Given the description of an element on the screen output the (x, y) to click on. 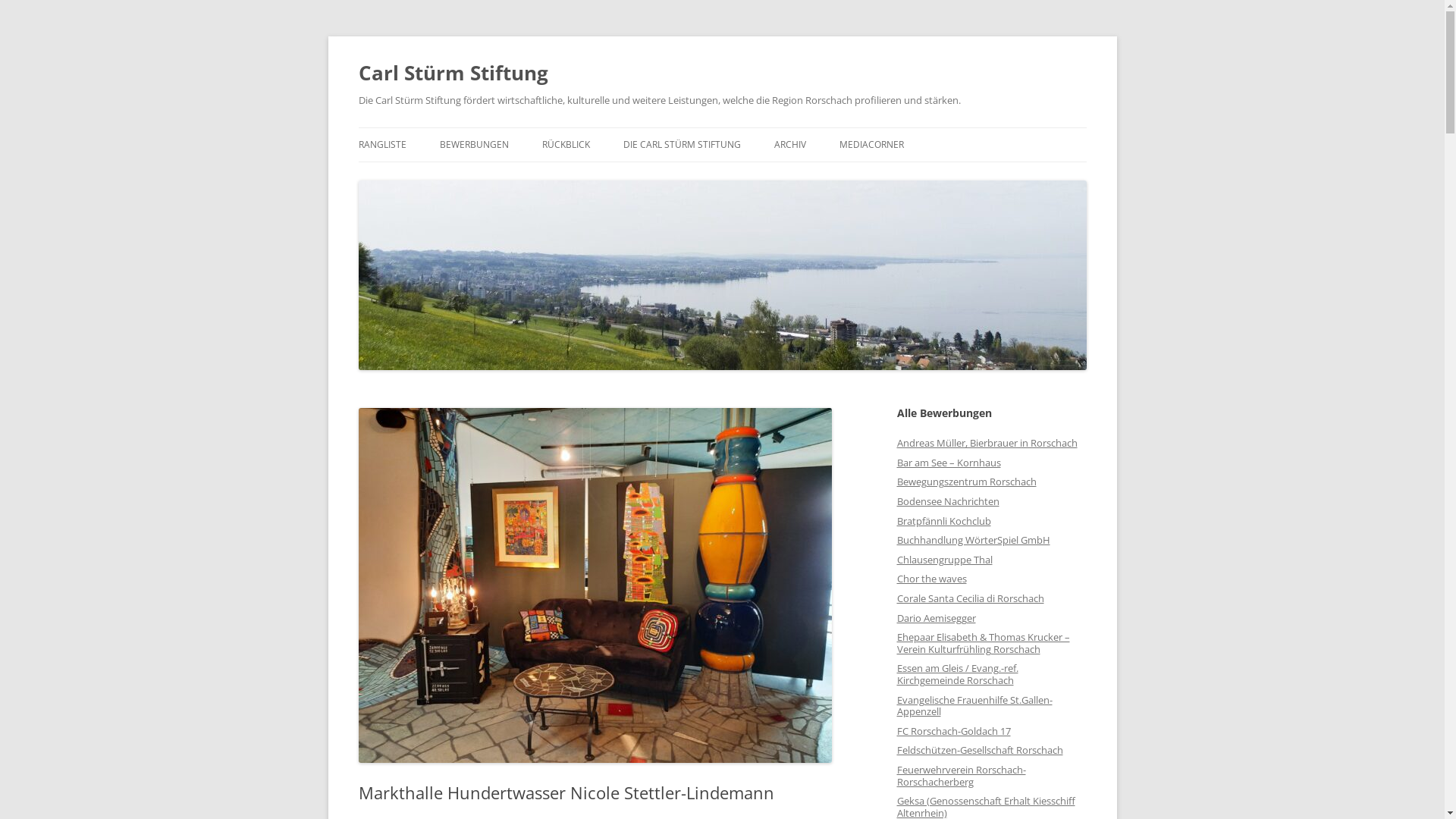
RANGLISTE Element type: text (381, 144)
BEWERBUNGEN Element type: text (473, 144)
Bewegungszentrum Rorschach Element type: text (965, 481)
FC Rorschach-Goldach 17 Element type: text (953, 730)
ARCHIV Element type: text (789, 144)
Bodensee Nachrichten Element type: text (947, 501)
MEDIACORNER Element type: text (870, 144)
Dario Aemisegger Element type: text (935, 617)
Corale Santa Cecilia di Rorschach Element type: text (969, 598)
Essen am Gleis / Evang.-ref. Kirchgemeinde Rorschach Element type: text (956, 674)
Zum Inhalt springen Element type: text (721, 127)
Chlausengruppe Thal Element type: text (943, 559)
Feuerwehrverein Rorschach-Rorschacherberg Element type: text (960, 775)
Chor the waves Element type: text (931, 578)
Evangelische Frauenhilfe St.Gallen-Appenzell Element type: text (973, 705)
